Given the description of an element on the screen output the (x, y) to click on. 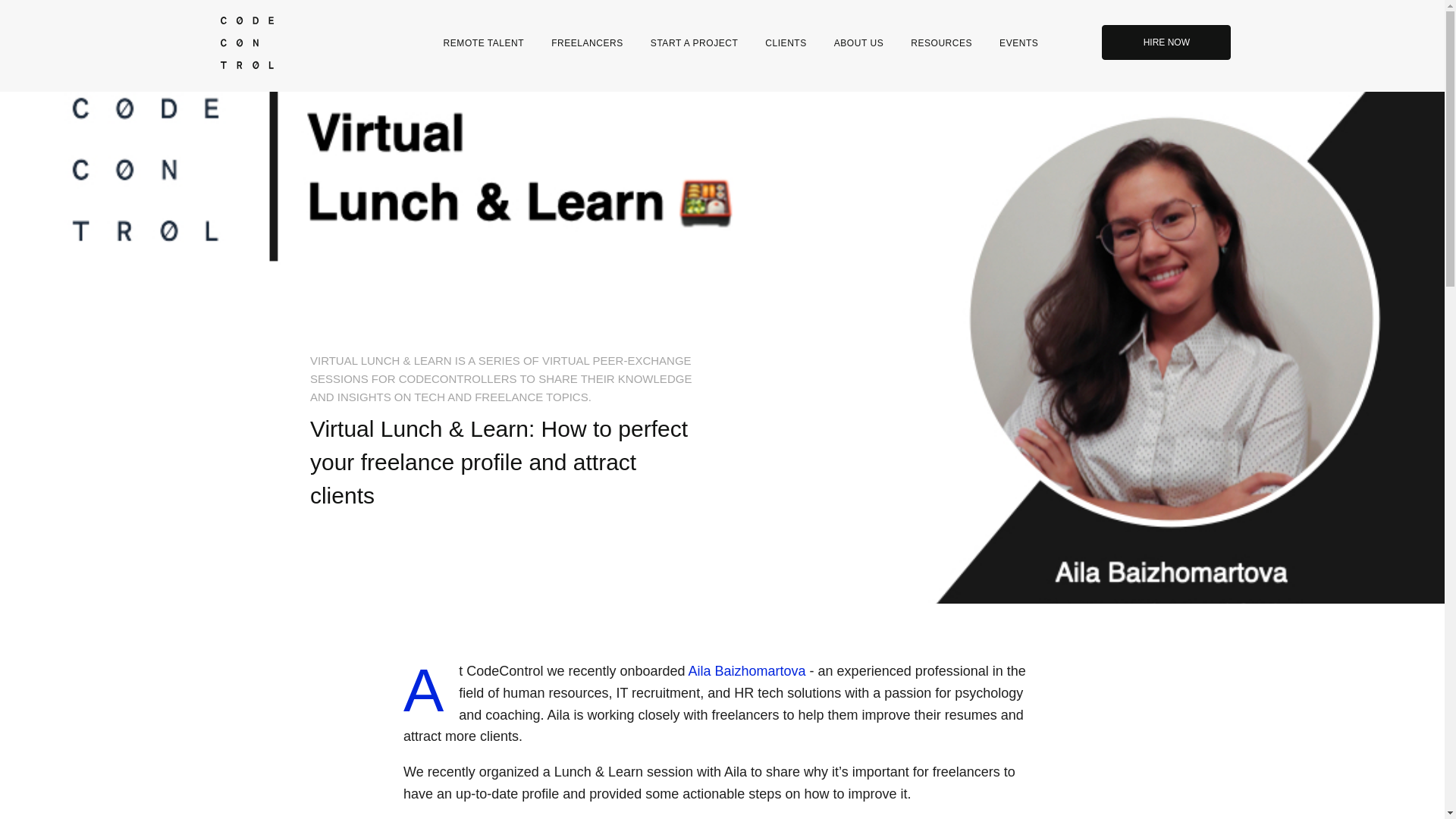
HIRE NOW (1166, 42)
START A PROJECT (694, 42)
Aila Baizhomartova (747, 670)
RESOURCES (940, 42)
CLIENTS (785, 42)
EVENTS (1018, 42)
FREELANCERS (587, 42)
ABOUT US (858, 42)
REMOTE TALENT (483, 42)
